Given the description of an element on the screen output the (x, y) to click on. 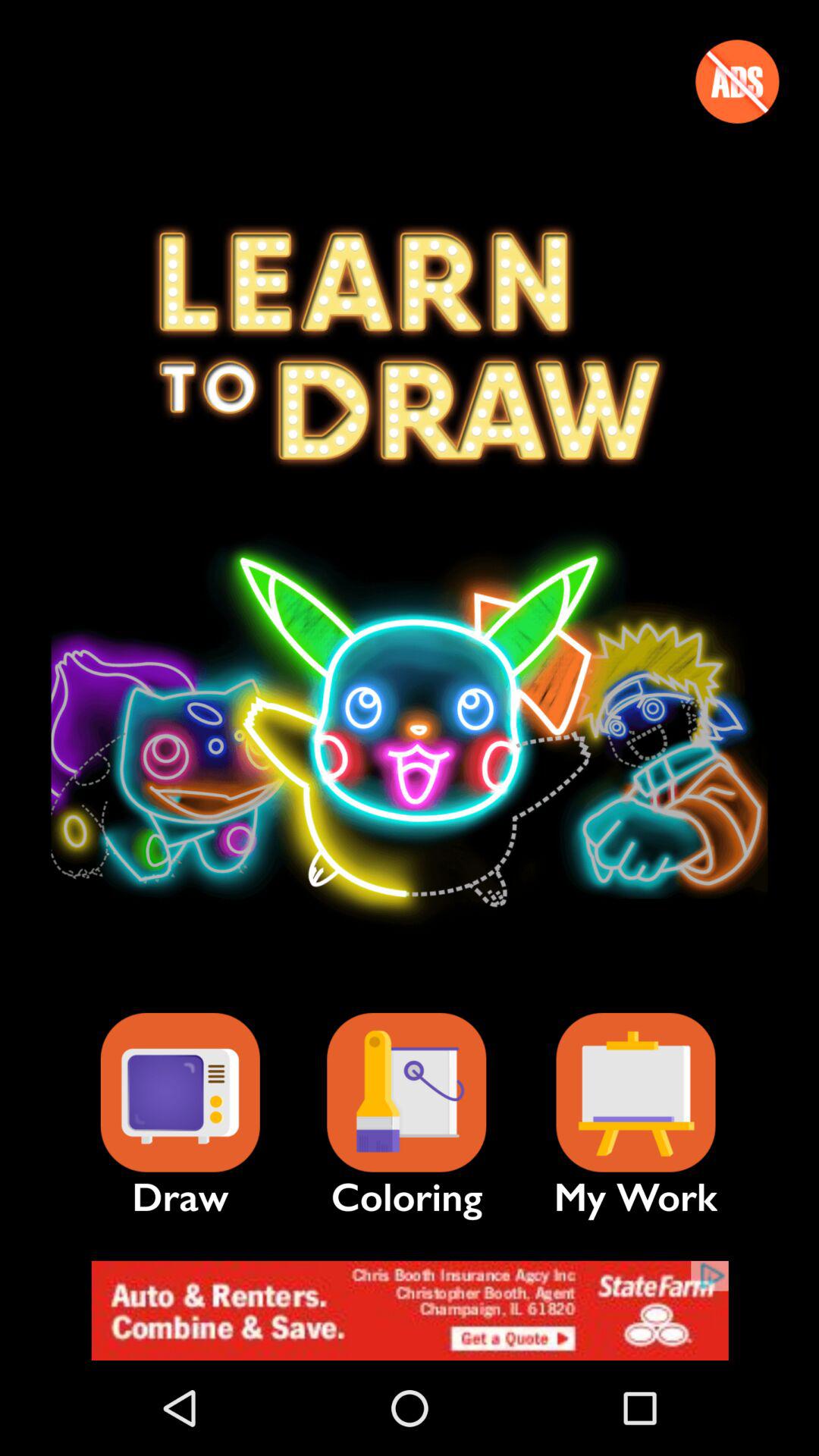
go to previous (737, 81)
